Given the description of an element on the screen output the (x, y) to click on. 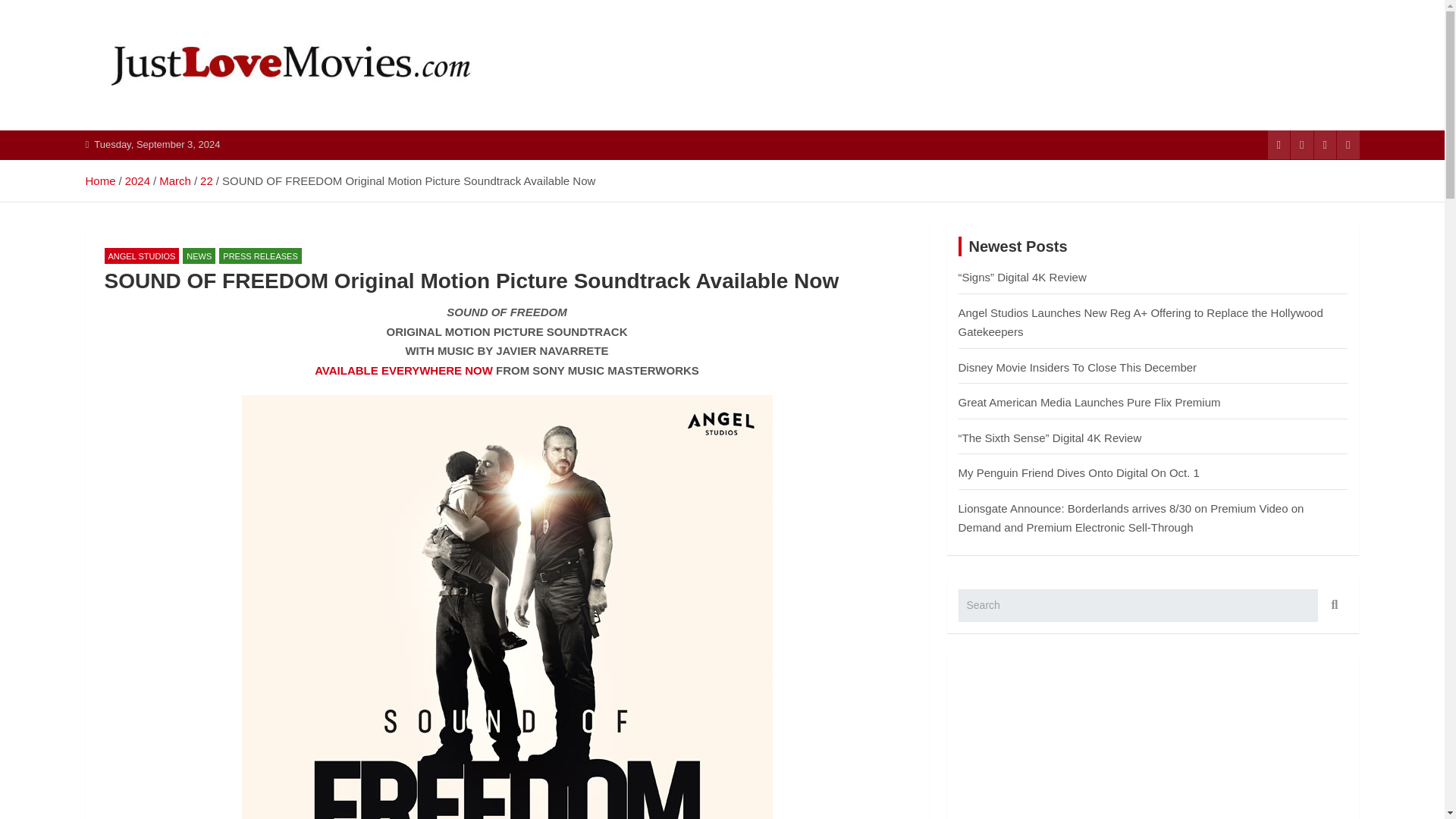
Home (99, 180)
March (174, 180)
Just Love Movies (210, 127)
Search (1332, 604)
PRESS RELEASES (260, 255)
ANGEL STUDIOS (141, 255)
NEWS (199, 255)
Disney Movie Insiders To Close This December (1077, 367)
22 (206, 180)
AVAILABLE EVERYWHERE NOW (403, 369)
